Given the description of an element on the screen output the (x, y) to click on. 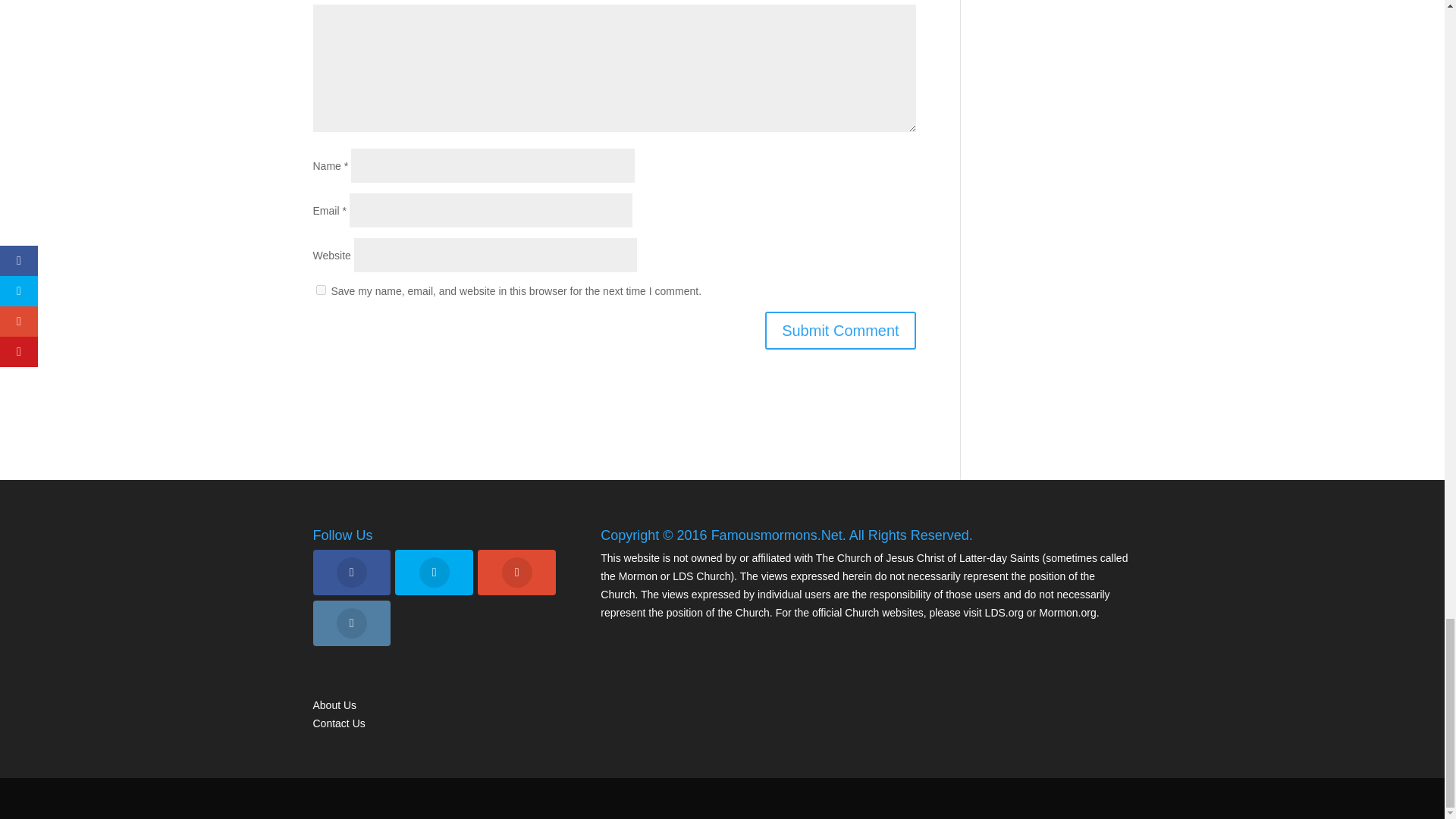
Submit Comment (840, 330)
Submit Comment (840, 330)
yes (319, 289)
